Given the description of an element on the screen output the (x, y) to click on. 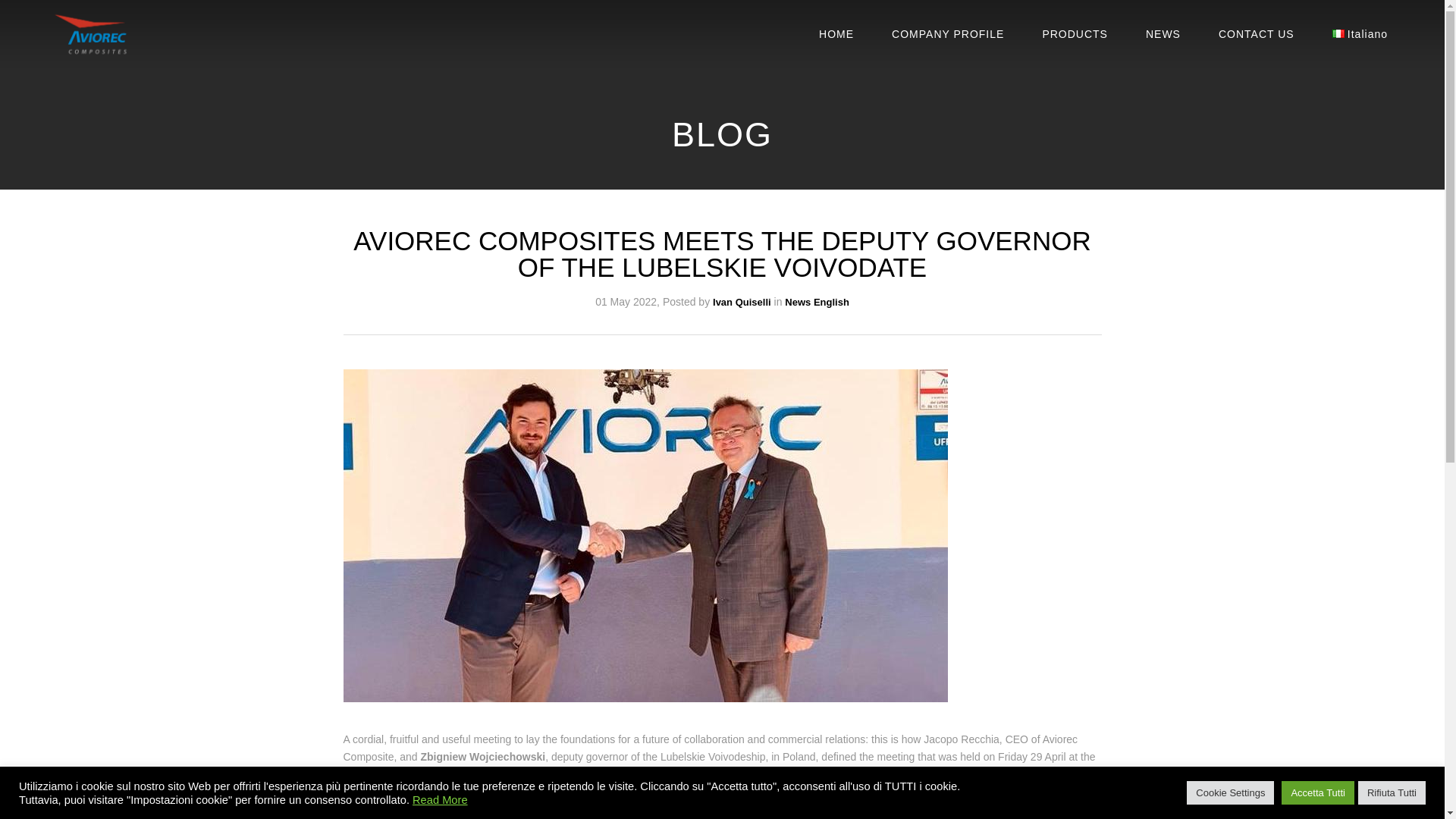
COMPANY PROFILE (947, 33)
CONTACT US (1256, 33)
PRODUCTS (1074, 33)
Italiano (1359, 33)
Italiano (1337, 33)
NEWS (1162, 33)
HOME (835, 33)
News English (816, 301)
